Given the description of an element on the screen output the (x, y) to click on. 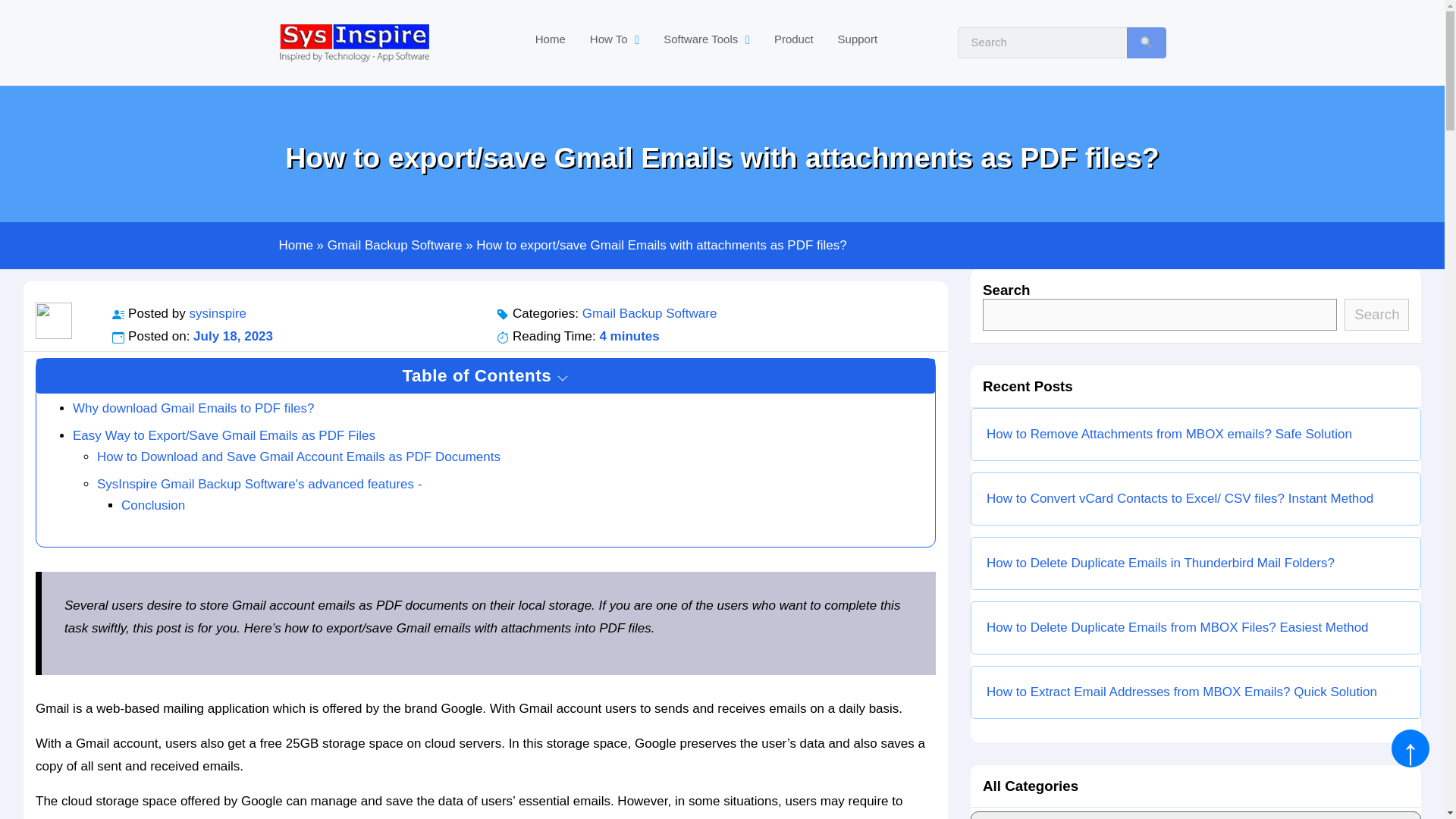
Software Tools (705, 39)
Product (793, 38)
Product (793, 38)
Home (699, 42)
Conclusion (296, 245)
Search (152, 504)
Gmail Backup Software (1042, 42)
How to (395, 245)
Software Tools (614, 39)
Table of Contents (705, 39)
Why download Gmail Emails to PDF files? (485, 375)
SysInspire Gmail Backup Software's advanced features - (193, 408)
SysInspire Gmail Backup Software's advanced features - (259, 483)
